Given the description of an element on the screen output the (x, y) to click on. 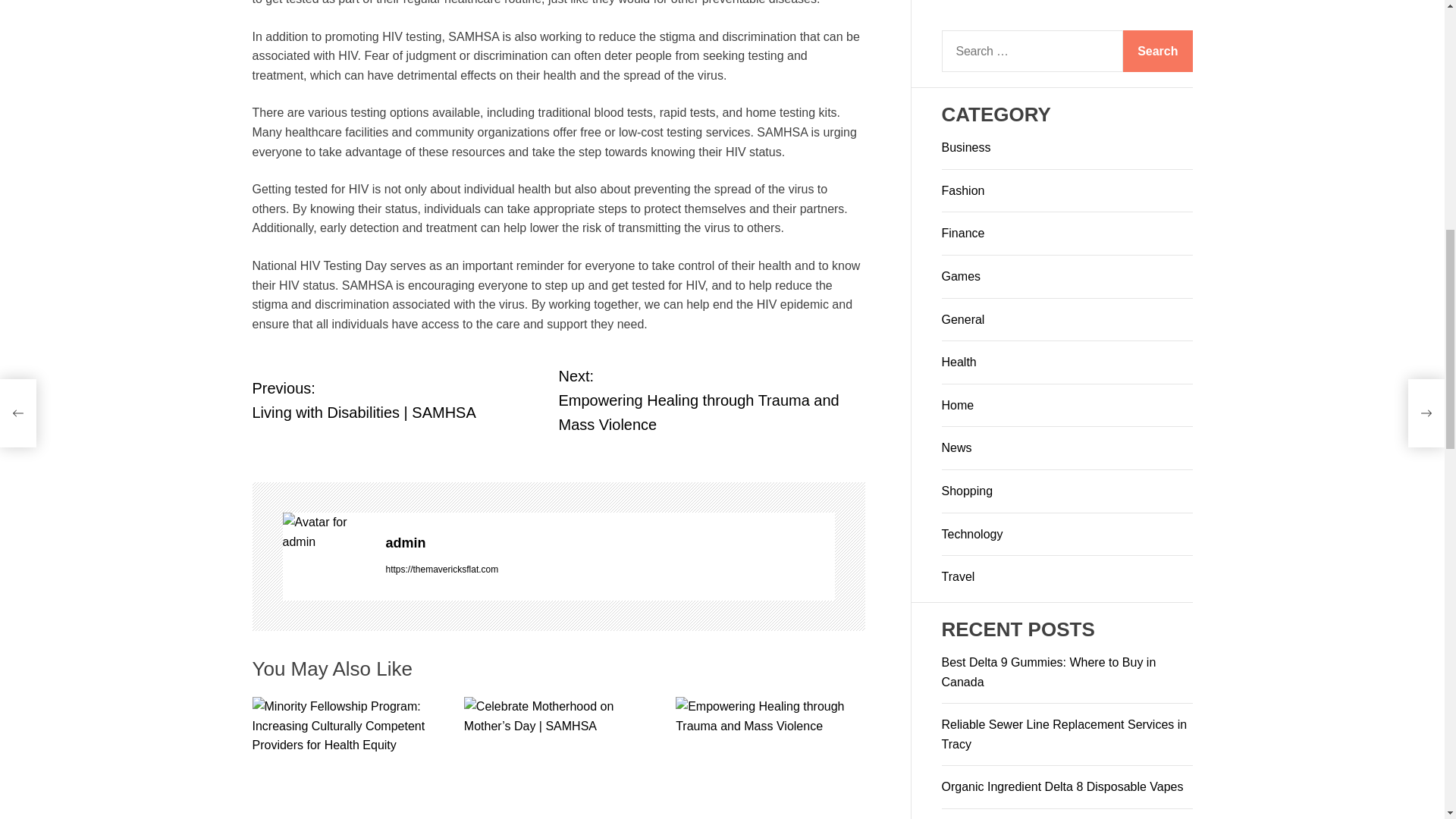
admin (325, 531)
admin (609, 543)
